Given the description of an element on the screen output the (x, y) to click on. 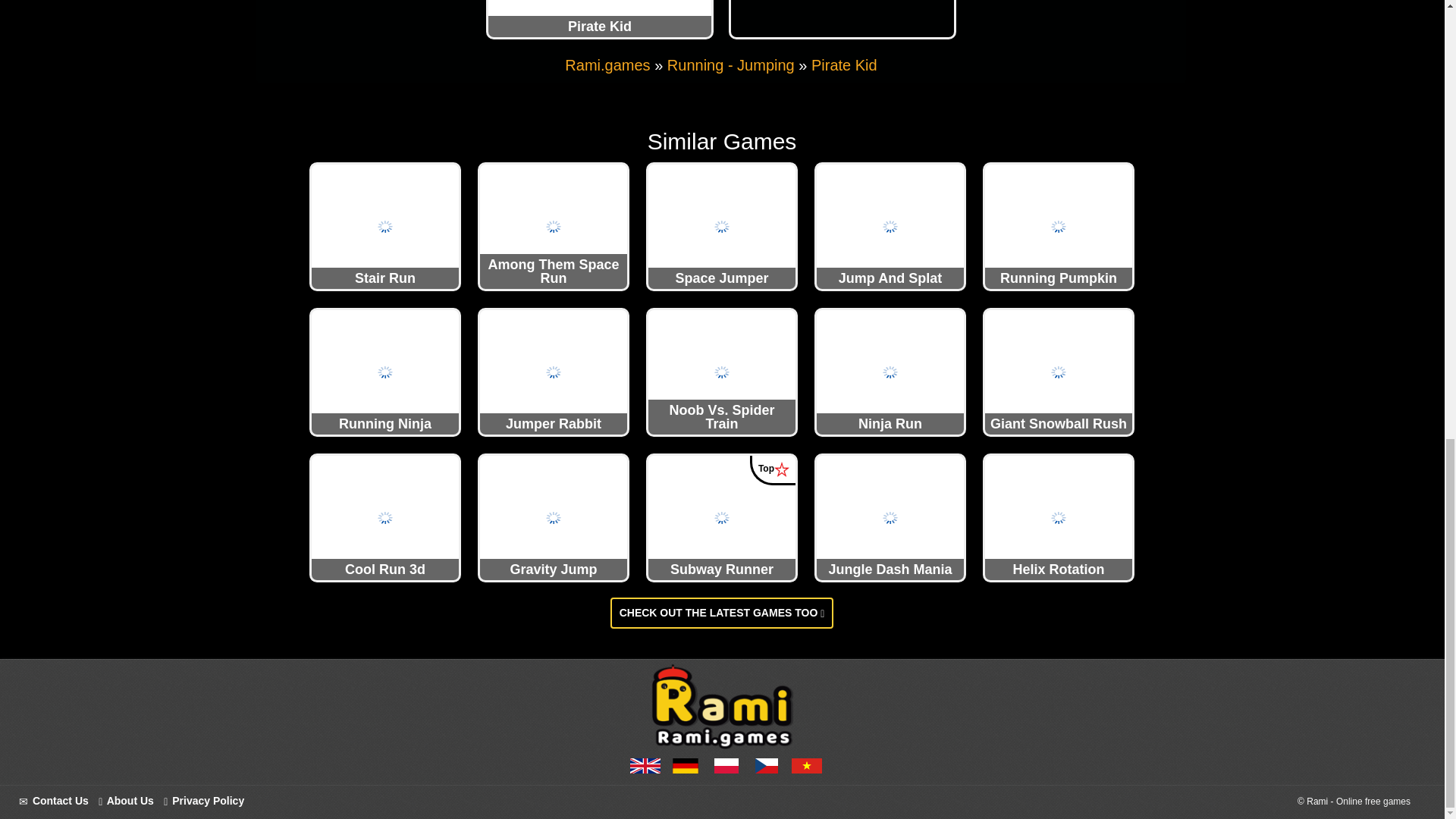
Space Jumper (720, 225)
Pirate Kid (843, 64)
Ninja Run (889, 371)
Running Ninja (384, 371)
Running - Jumping (730, 64)
Jumper Rabbit (553, 371)
Noob Vs. Spider Train (720, 371)
Jump And Splat (889, 225)
Rami.games (606, 64)
Among Them Space Run (553, 225)
Running Pumpkin (1058, 225)
Giant Snowball Rush (1058, 371)
Stair Run (384, 225)
